Given the description of an element on the screen output the (x, y) to click on. 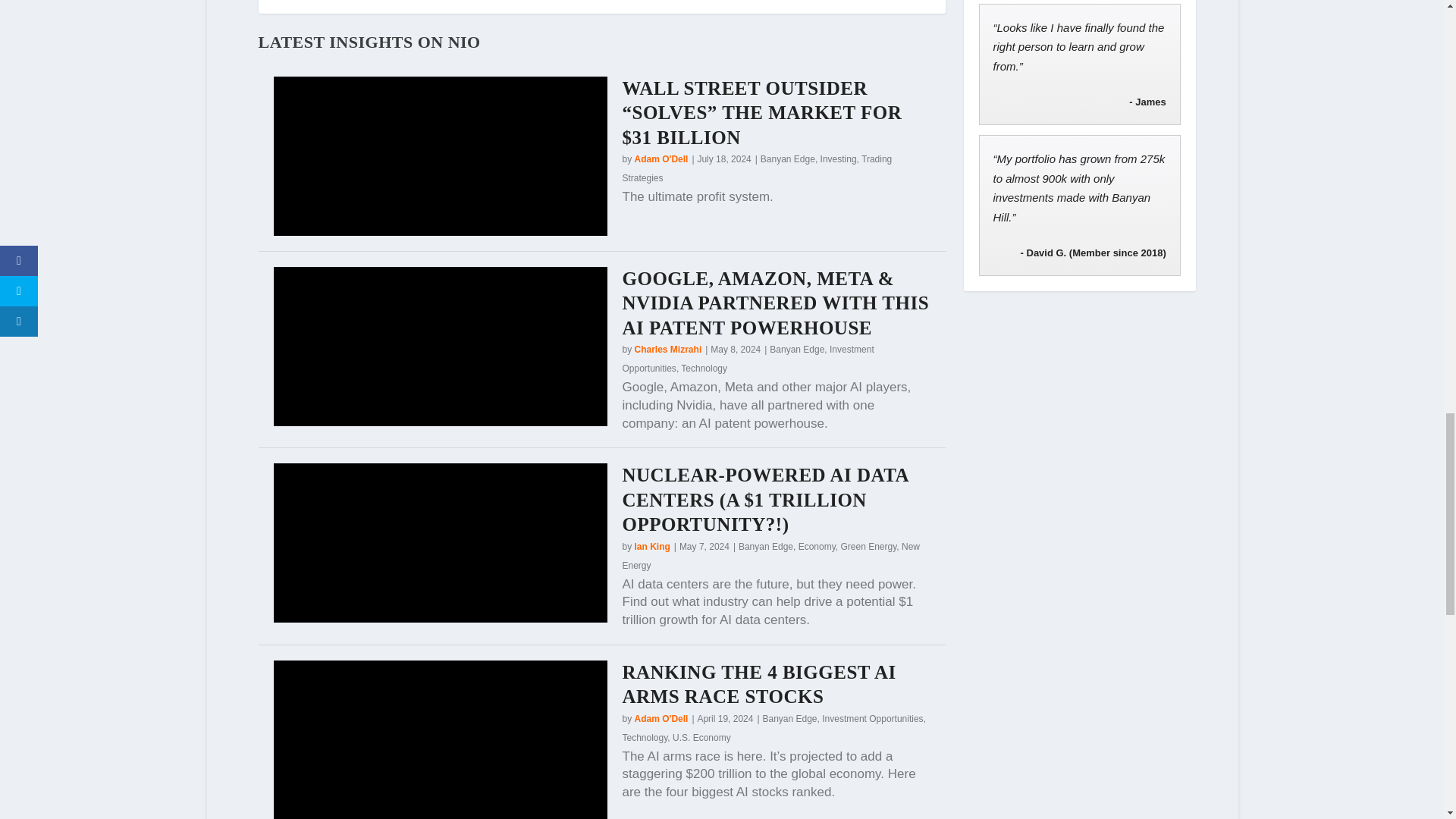
Green Energy (868, 546)
Investing (839, 158)
Banyan Edge (787, 158)
Investment Opportunities (747, 358)
Banyan Edge (797, 348)
Adam O'Dell (661, 158)
Ian King (651, 546)
Trading Strategies (756, 168)
Economy (816, 546)
Charles Mizrahi (667, 348)
